Given the description of an element on the screen output the (x, y) to click on. 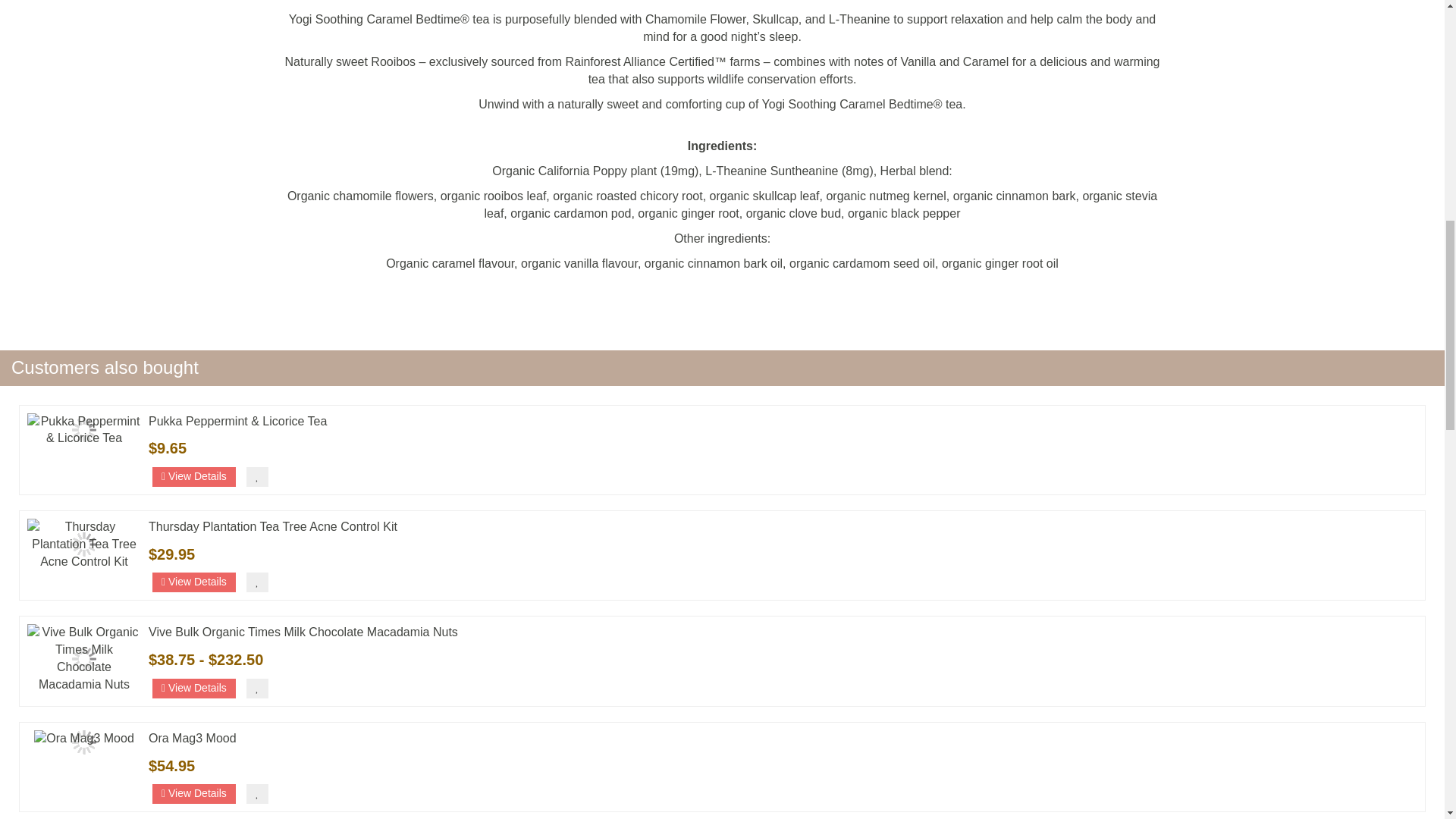
Add to Wish List (256, 476)
Add to Wish List (256, 582)
Add to Wish List (256, 793)
Vive Bulk Organic Times Milk Chocolate Macadamia Nuts (84, 658)
Ora Mag3 Mood (83, 742)
Thursday Plantation Tea Tree Acne Control Kit (84, 544)
Add to Wish List (256, 688)
